Given the description of an element on the screen output the (x, y) to click on. 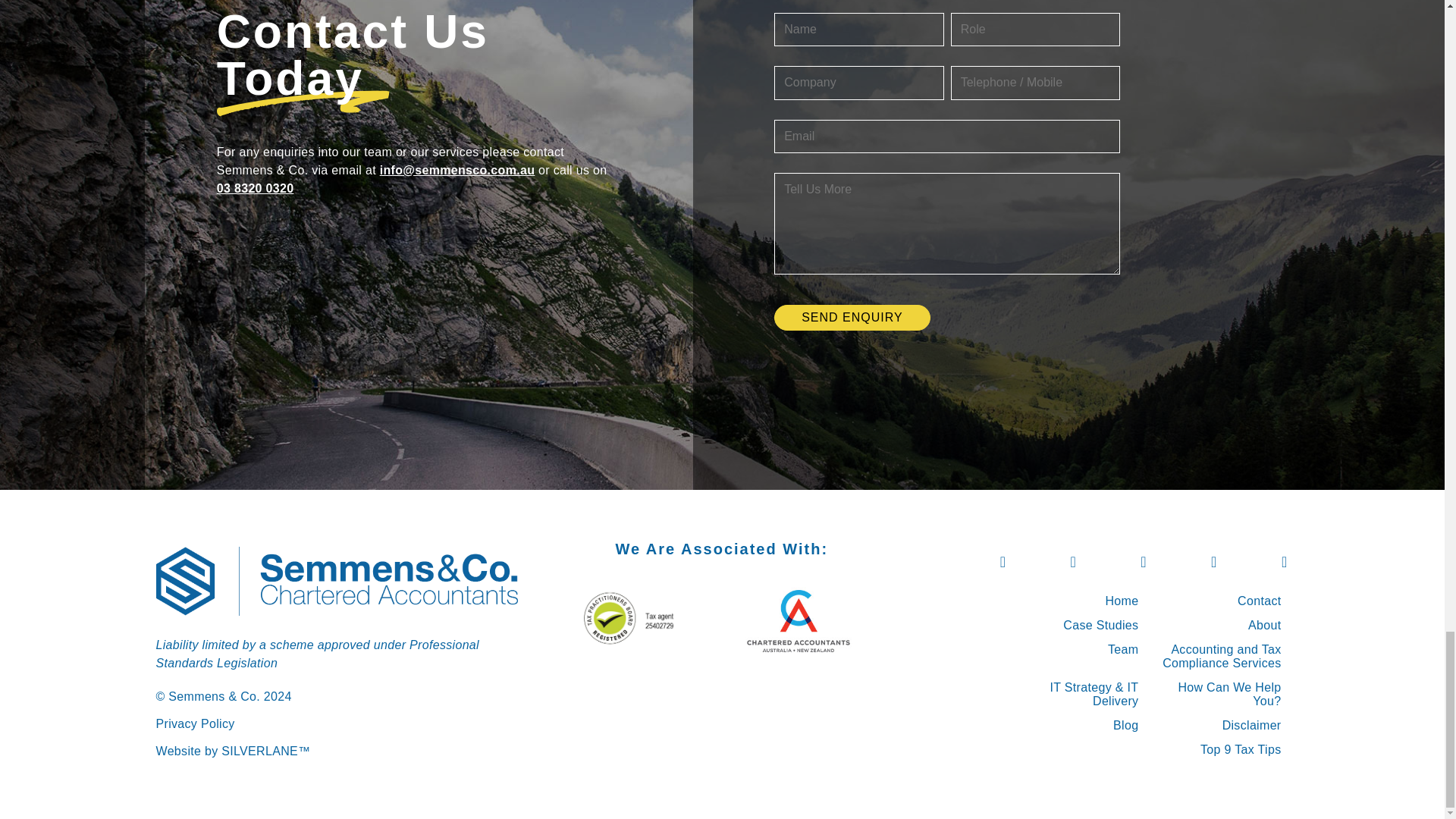
03 8320 0320 (255, 187)
Privacy Policy (194, 723)
SEND ENQUIRY (852, 317)
